Given the description of an element on the screen output the (x, y) to click on. 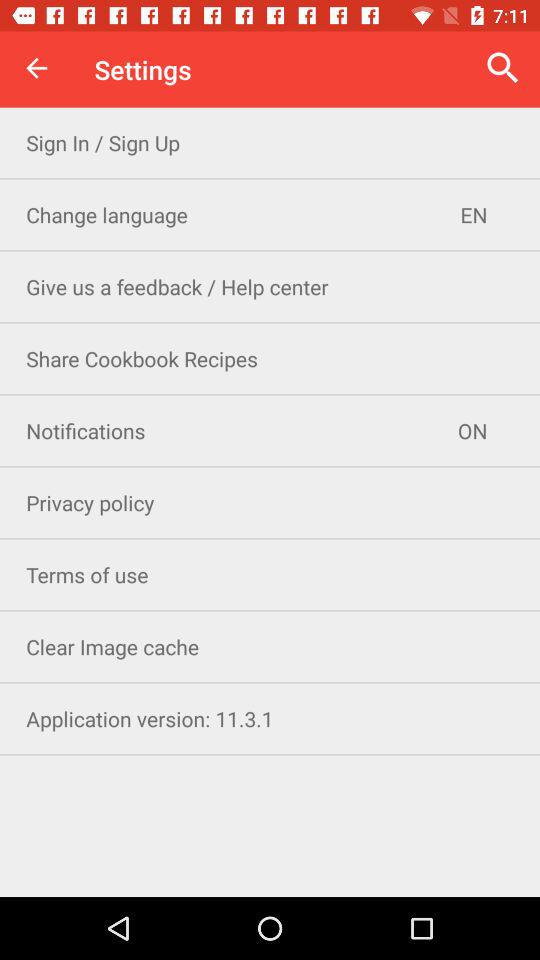
click clear image cache (270, 646)
